Given the description of an element on the screen output the (x, y) to click on. 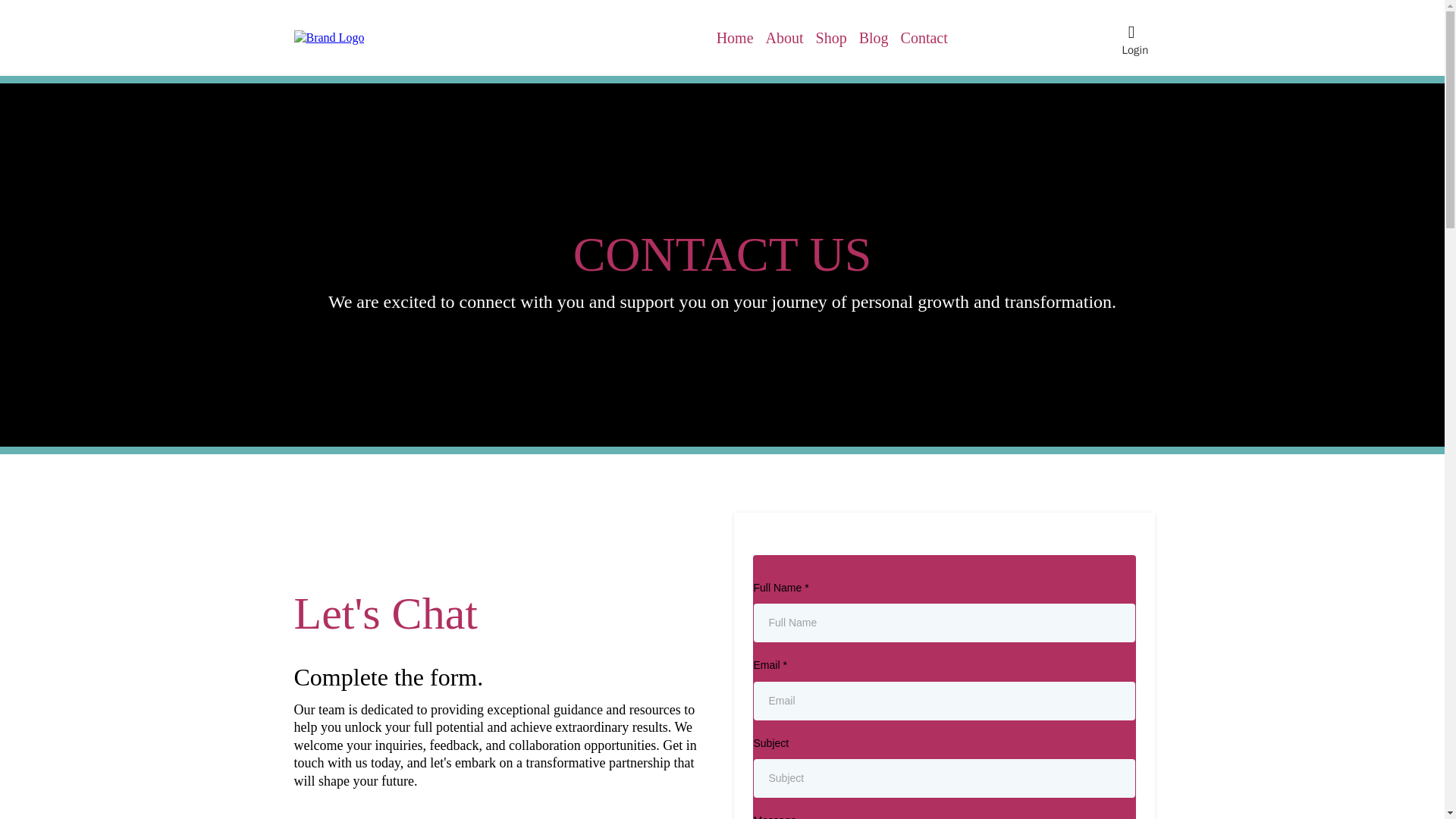
Contact (924, 37)
Shop (831, 37)
Blog (874, 37)
About (784, 37)
Home (735, 37)
